Given the description of an element on the screen output the (x, y) to click on. 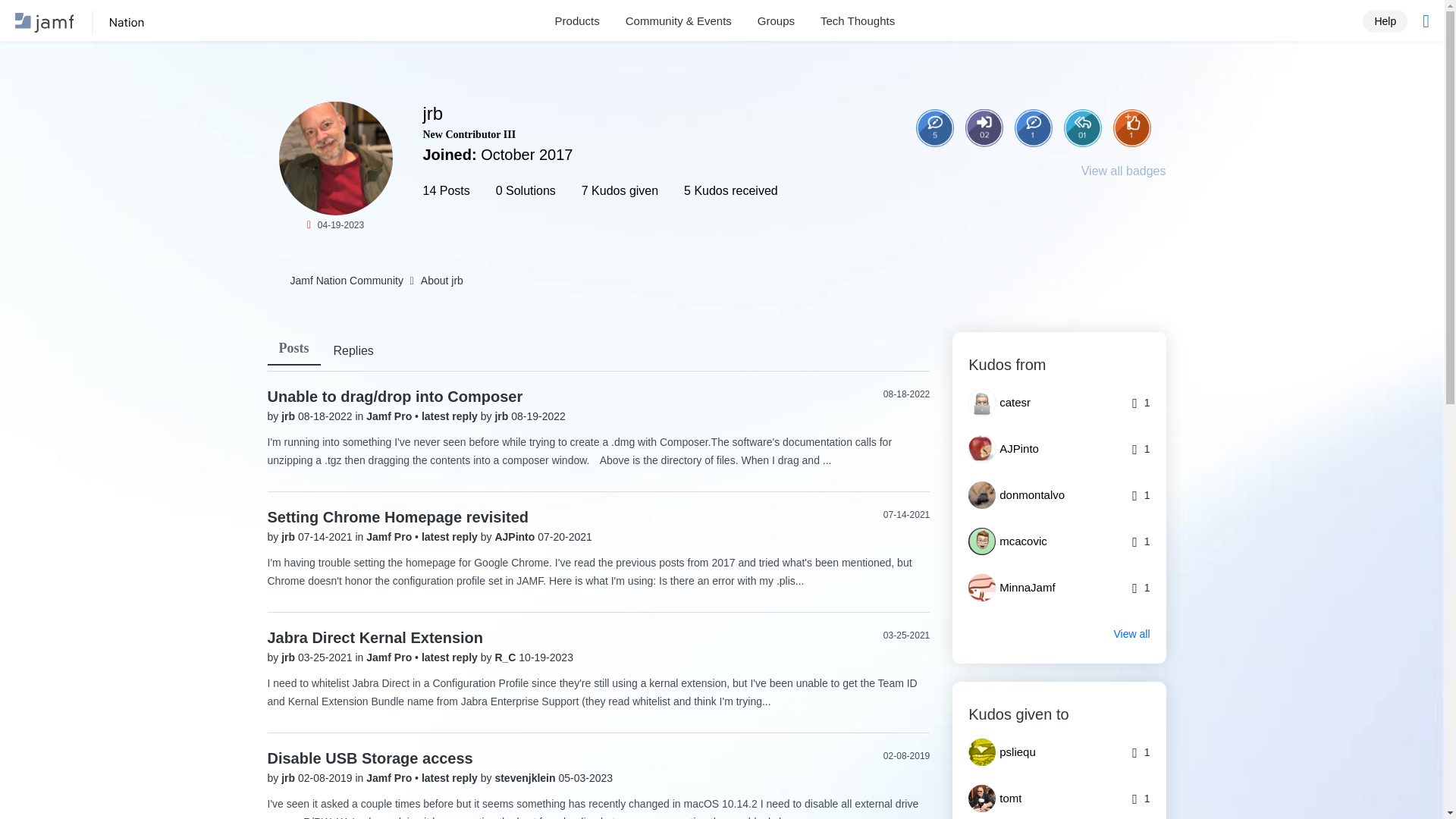
Jamf Nation Community (103, 22)
Jamf Pro (390, 777)
jrb (289, 416)
Replies (352, 351)
latest reply (451, 416)
08-18-2022 10:52 AM 08-18-2022 10:52 AM (906, 394)
latest reply (451, 777)
latest reply (451, 536)
03-25-2021 03:38 AM 03-25-2021 03:38 AM (906, 634)
Login (934, 180)
07-14-2021 04:39 AM 07-14-2021 04:39 AM (906, 514)
View profile (516, 536)
Topic Starter (1033, 127)
Products (576, 21)
Jamf Pro (390, 657)
